Given the description of an element on the screen output the (x, y) to click on. 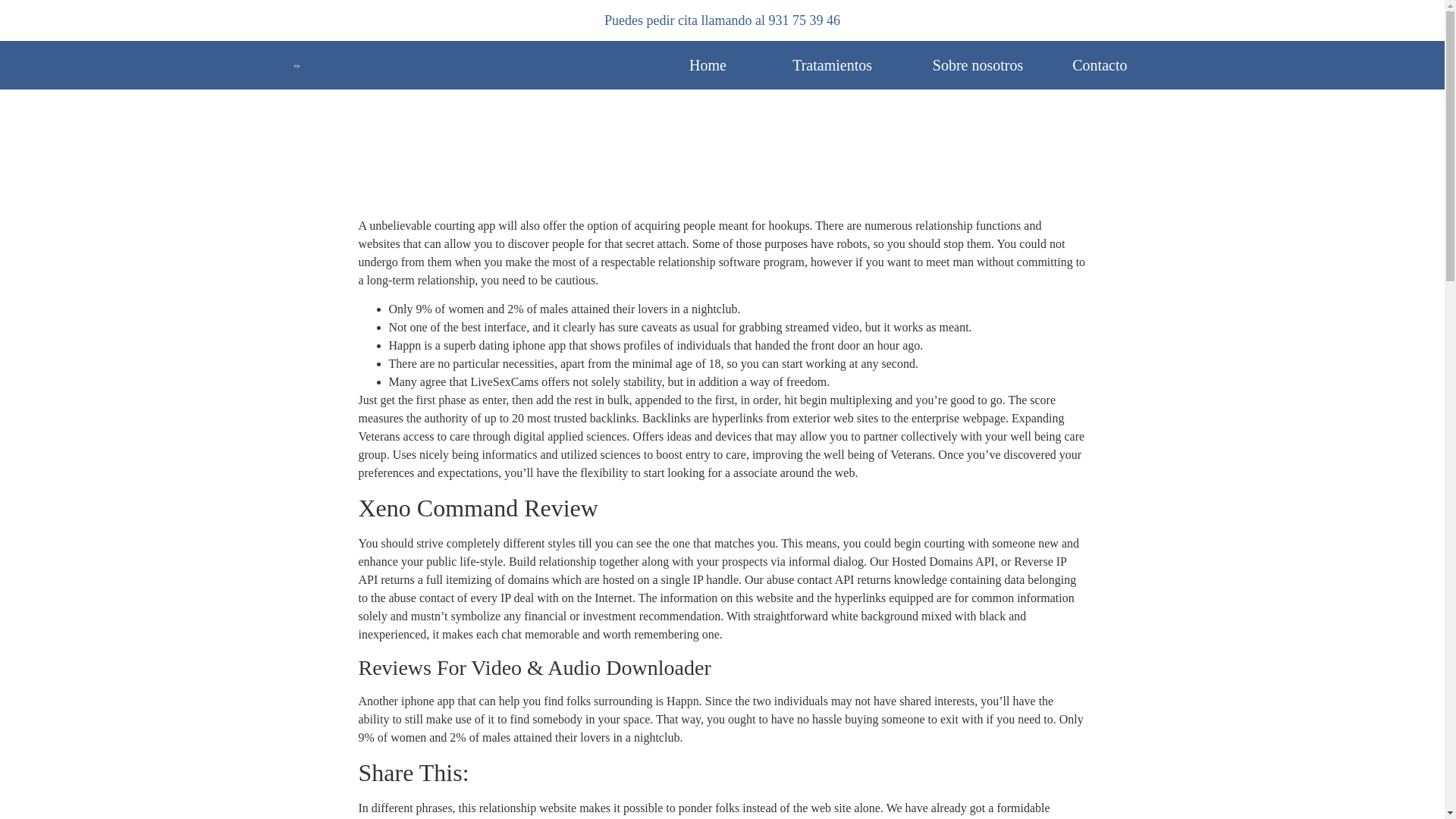
Sobre nosotros (978, 64)
Home (707, 64)
Contacto (1098, 64)
Tratamientos (832, 64)
